Given the description of an element on the screen output the (x, y) to click on. 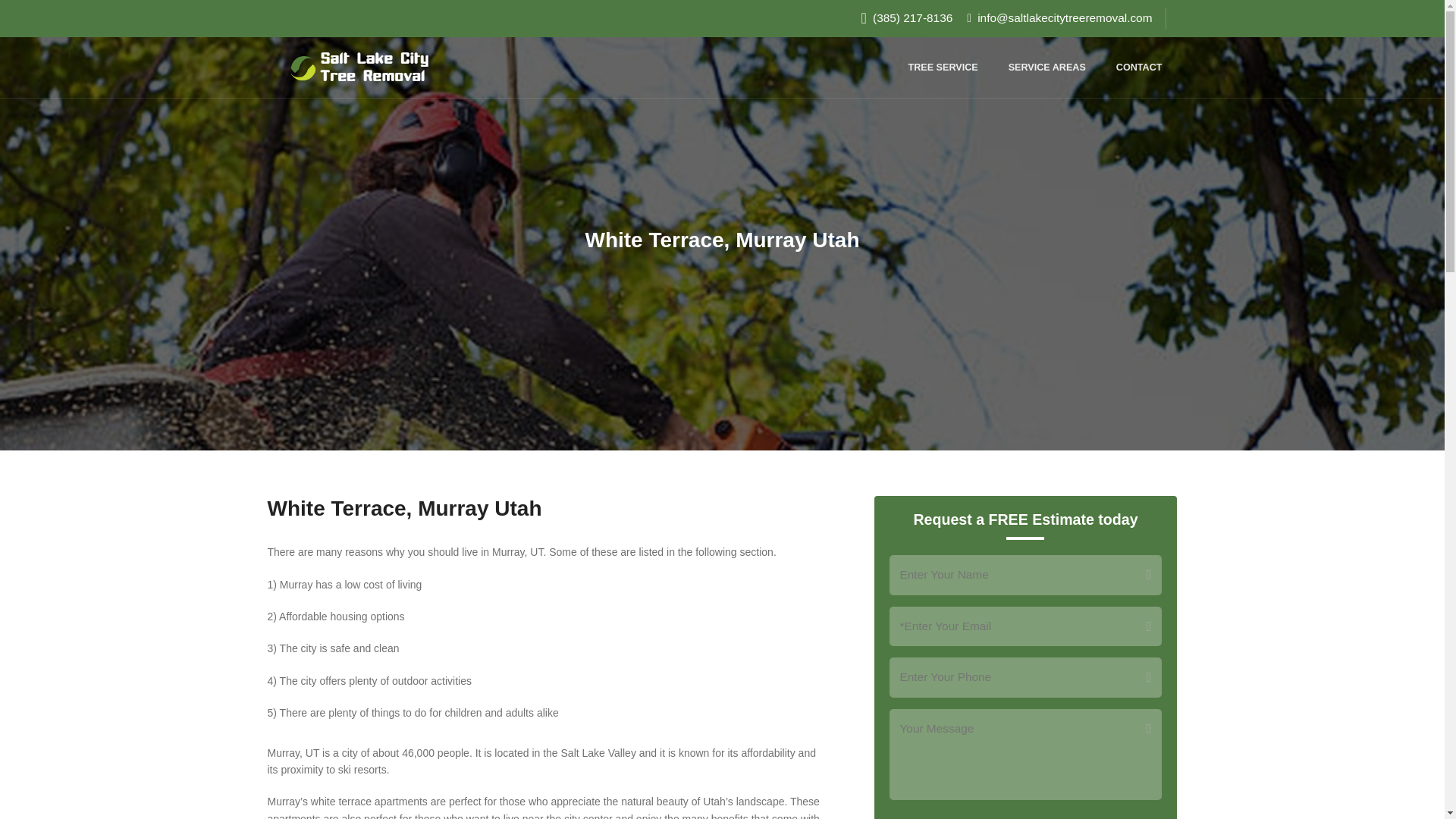
SERVICE AREAS (1046, 67)
TREE SERVICE (942, 67)
CONTACT (1138, 67)
